Given the description of an element on the screen output the (x, y) to click on. 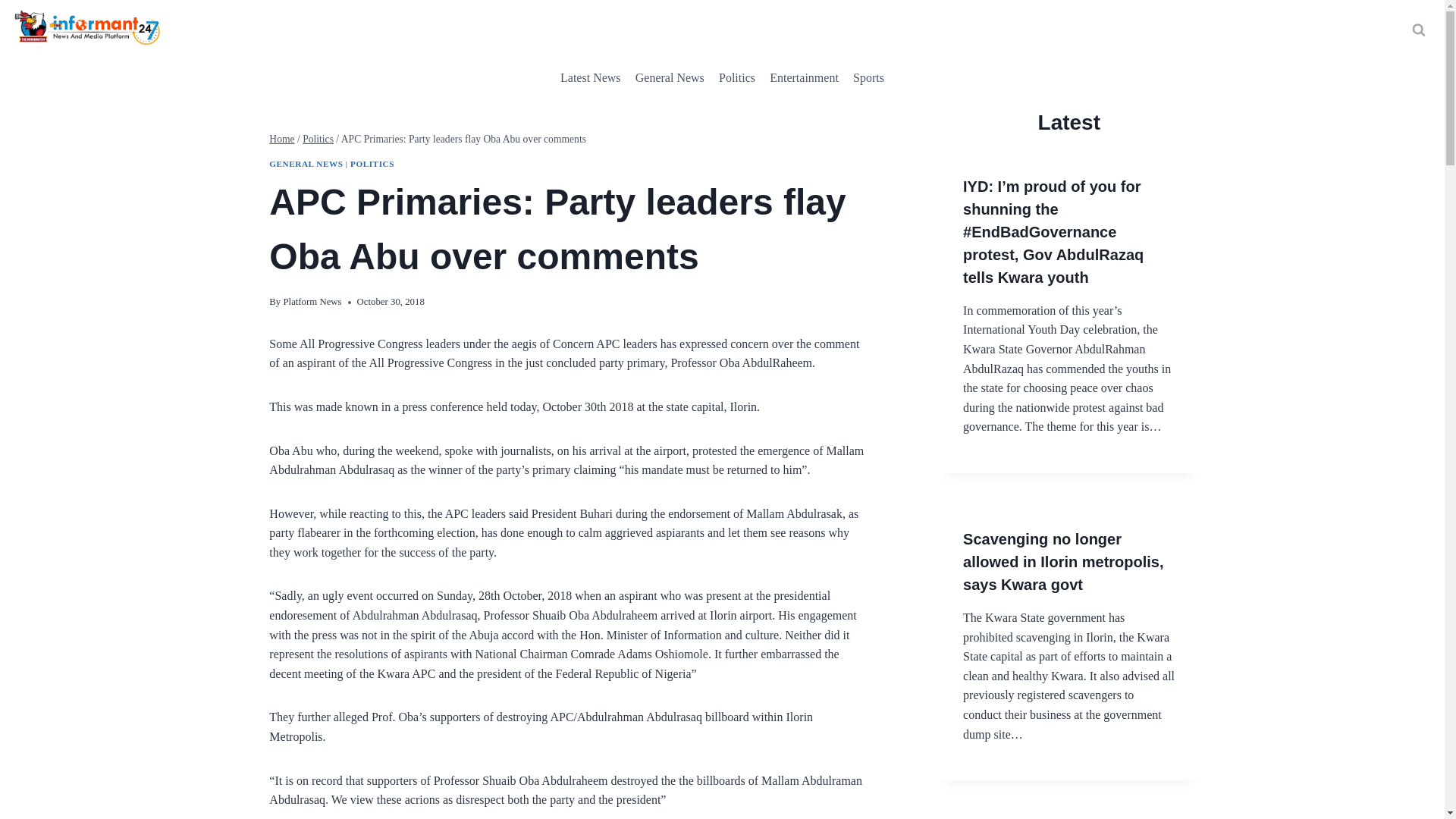
Politics (317, 138)
GENERAL NEWS (305, 163)
Latest News (590, 77)
General Nigeria News (669, 77)
Platform News (311, 301)
Home (281, 138)
Naija Gist (803, 77)
Latest News (590, 77)
Entertainment (803, 77)
Sports (868, 77)
